Given the description of an element on the screen output the (x, y) to click on. 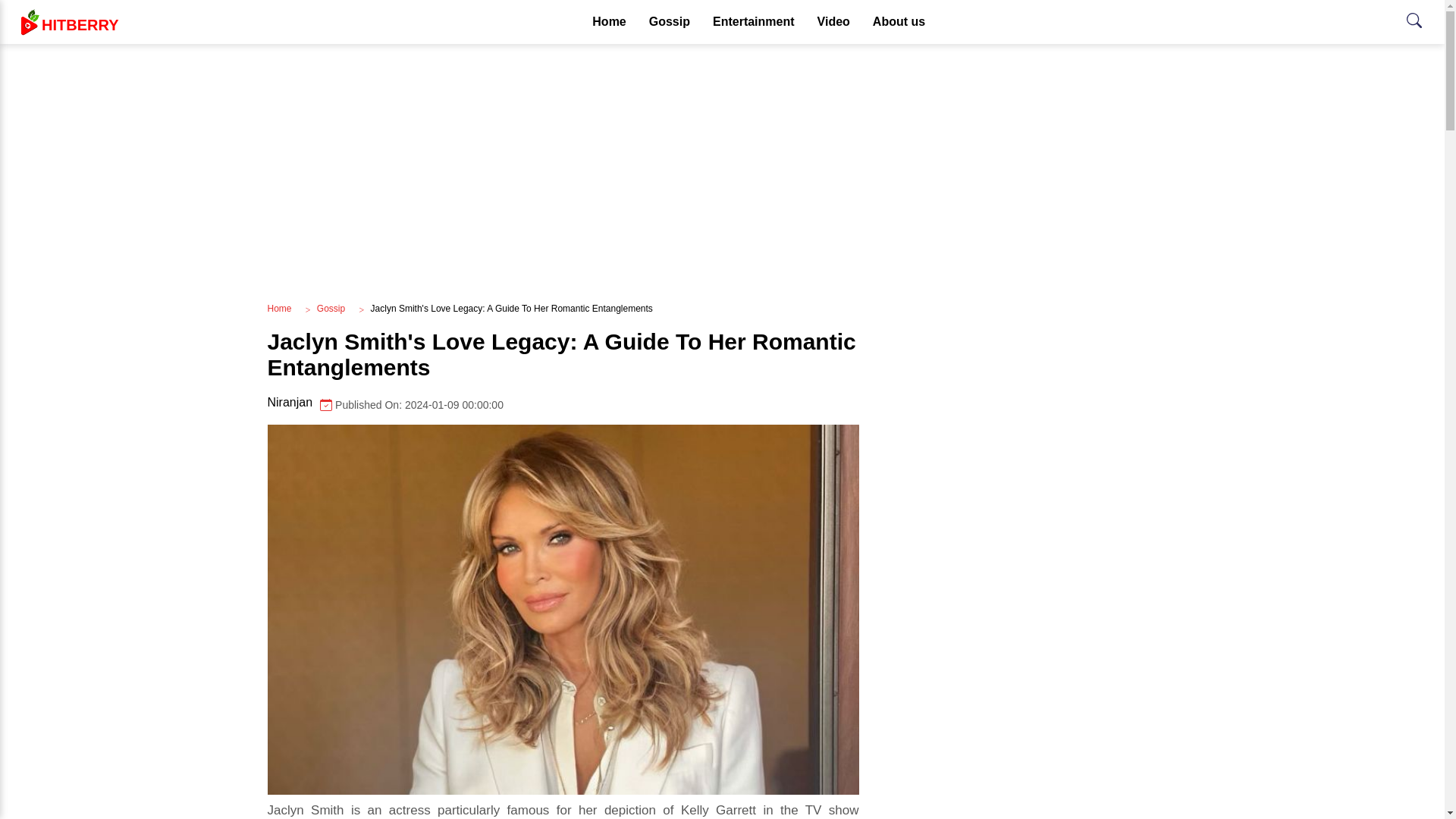
Entertainment (753, 22)
HITBERRY (65, 22)
Video (562, 404)
Gossip (833, 22)
Home (331, 308)
Home (608, 22)
Gossip (278, 308)
About us (669, 22)
Advertisement (898, 22)
